Given the description of an element on the screen output the (x, y) to click on. 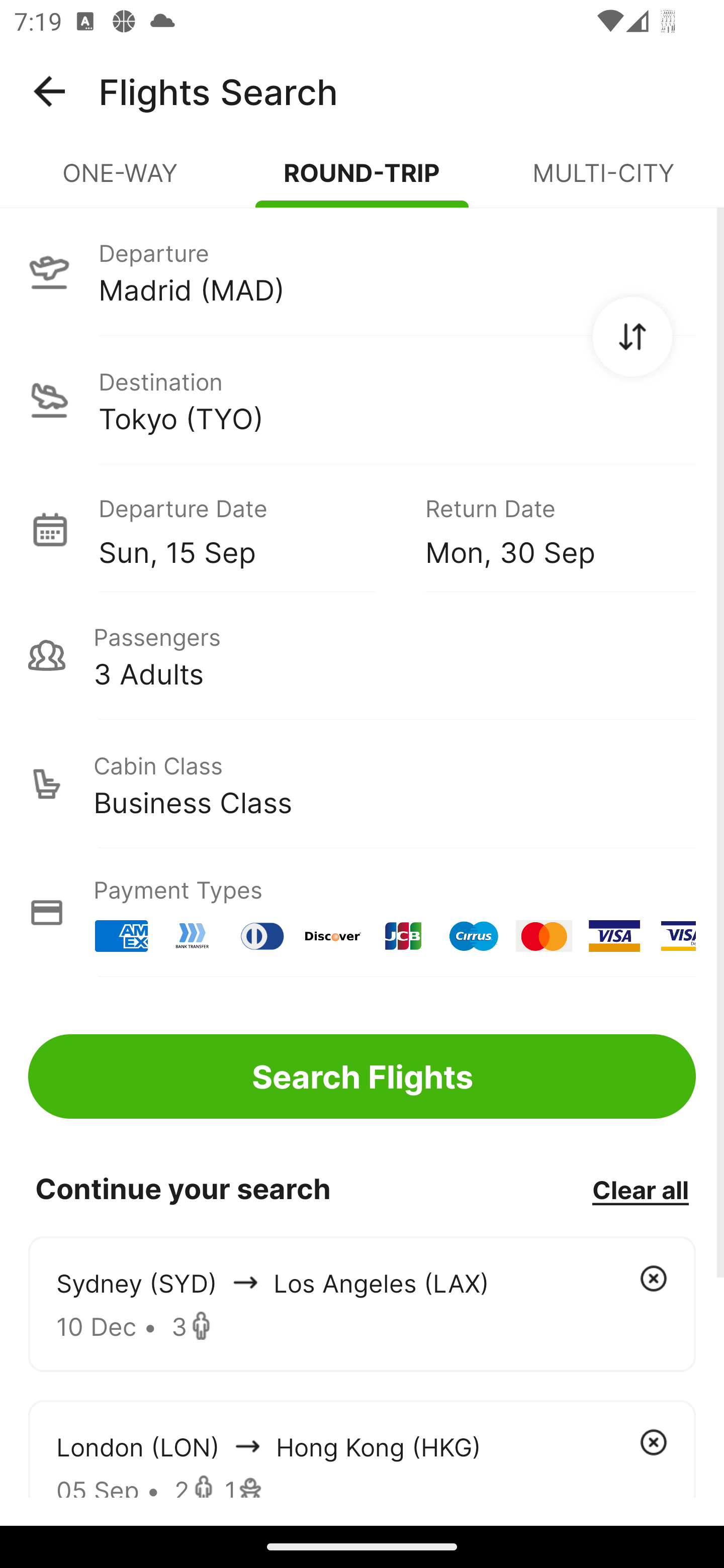
ONE-WAY (120, 180)
ROUND-TRIP (361, 180)
MULTI-CITY (603, 180)
Departure Madrid (MAD) (362, 270)
Destination Tokyo (TYO) (362, 400)
Departure Date Sun, 15 Sep (247, 528)
Return Date Mon, 30 Sep (546, 528)
Passengers 3 Adults (362, 655)
Cabin Class Business Class (362, 783)
Payment Types (362, 912)
Search Flights (361, 1075)
Clear all (640, 1189)
